Given the description of an element on the screen output the (x, y) to click on. 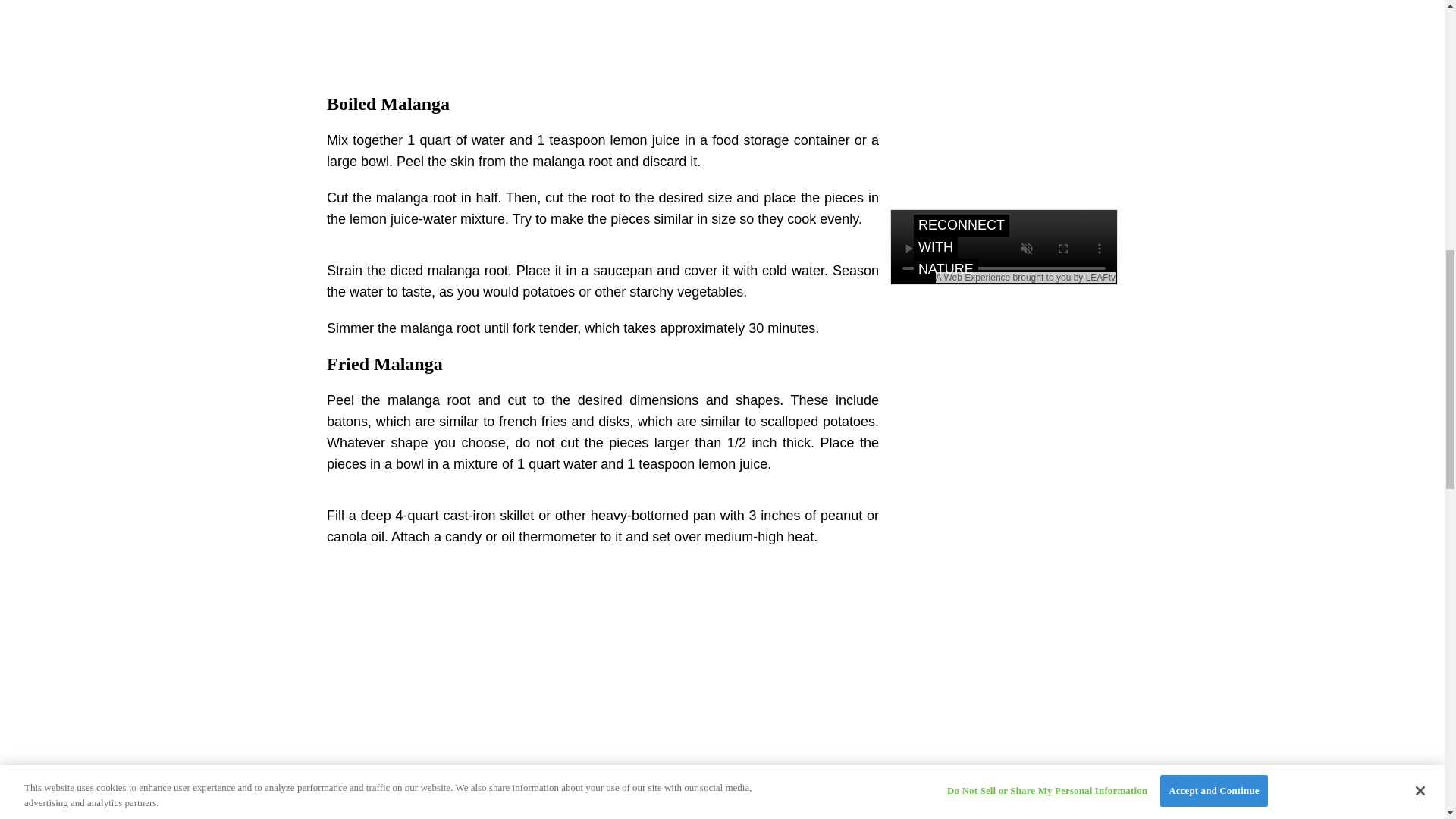
3rd party ad content (602, 666)
3rd party ad content (602, 35)
